Given the description of an element on the screen output the (x, y) to click on. 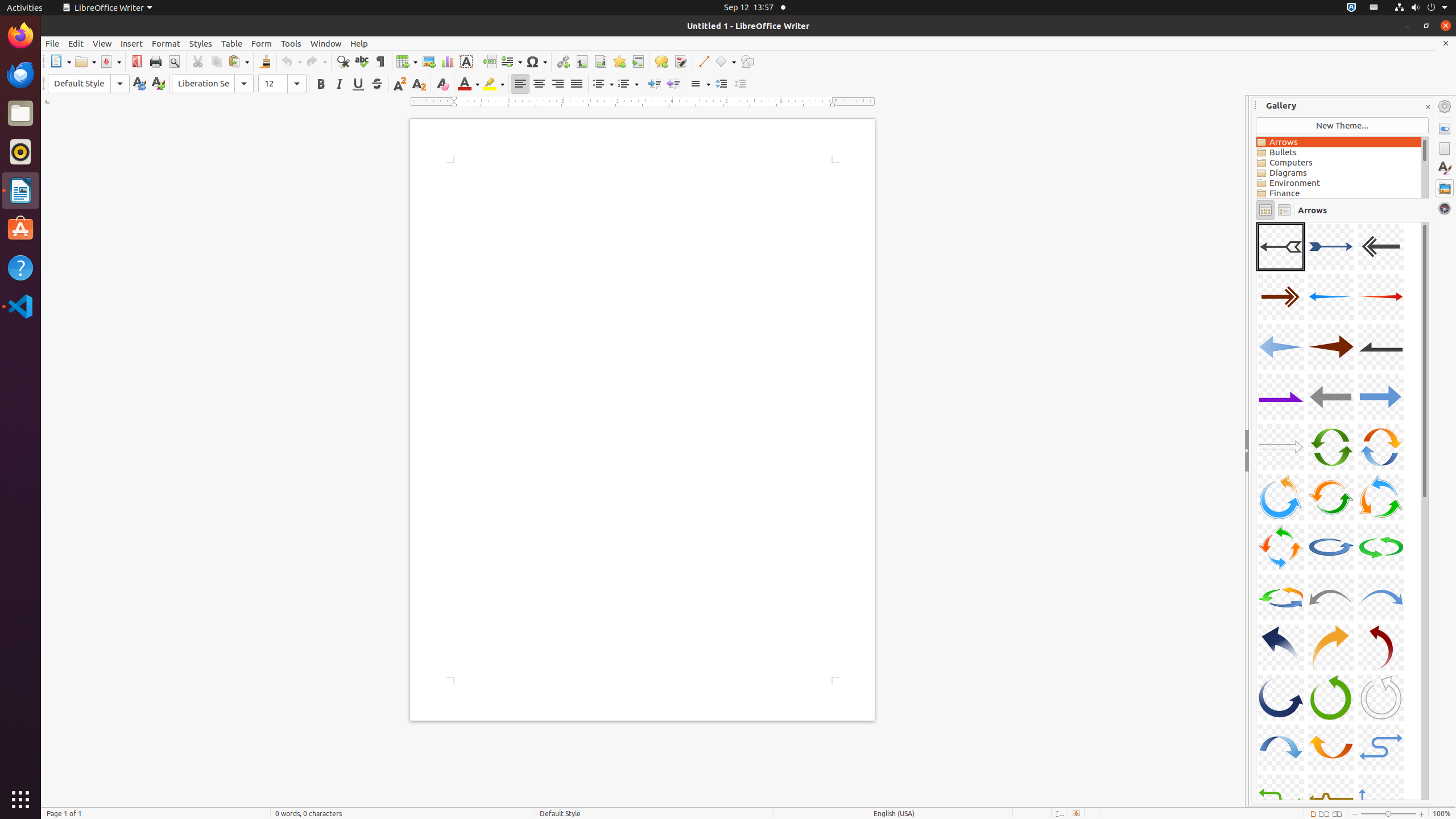
Properties Element type: radio-button (1444, 128)
Strikethrough Element type: toggle-button (376, 83)
Clone Element type: push-button (264, 61)
A15-CircleArrow Element type: list-item (1380, 446)
A04-Arrow-DarkRed-Right Element type: list-item (1280, 296)
